Given the description of an element on the screen output the (x, y) to click on. 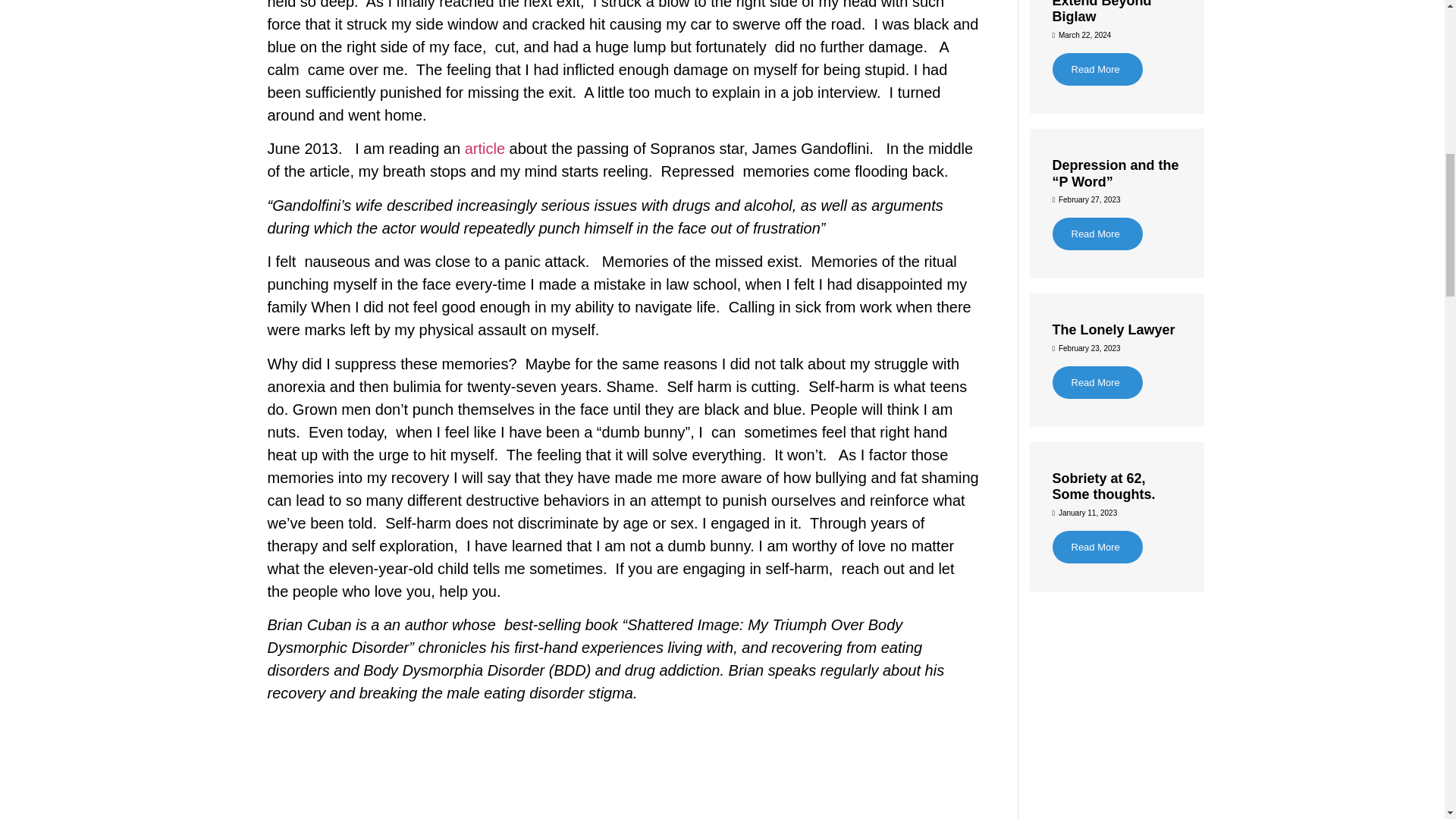
article (486, 148)
Read More (1097, 382)
The Lonely Lawyer (1113, 329)
Read More (1097, 546)
Lawyer Wellness Initiatives Must Extend Beyond Biglaw (1106, 12)
Read More (1097, 233)
Sobriety at 62, Some thoughts. (1104, 486)
Read More (1097, 69)
